Given the description of an element on the screen output the (x, y) to click on. 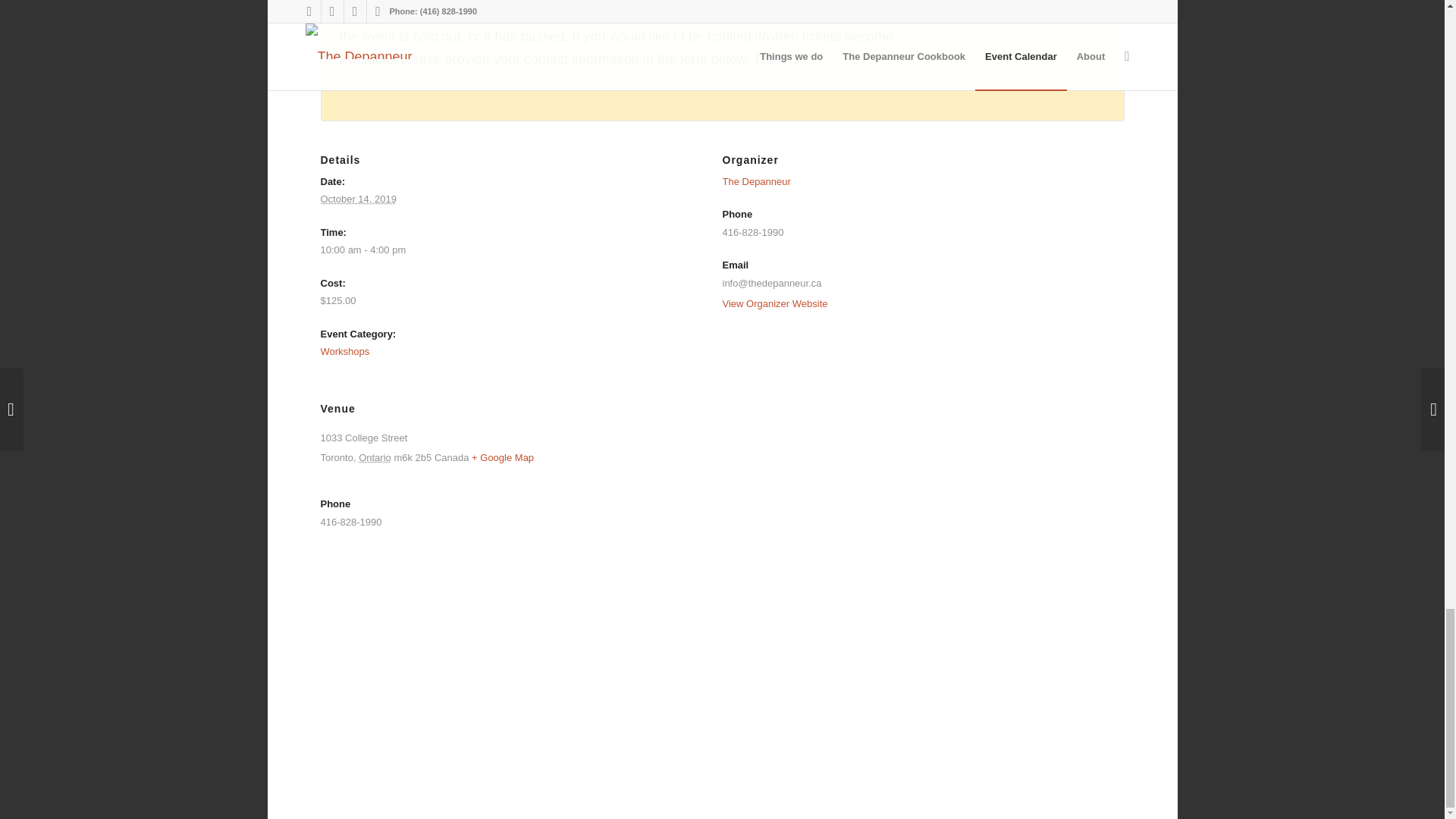
2019-10-14 (505, 249)
The Depanneur (756, 181)
Click to view a Google Map (502, 457)
Workshops (344, 351)
The Depanneur (756, 181)
View Organizer Website (774, 303)
2019-10-14 (358, 198)
